Given the description of an element on the screen output the (x, y) to click on. 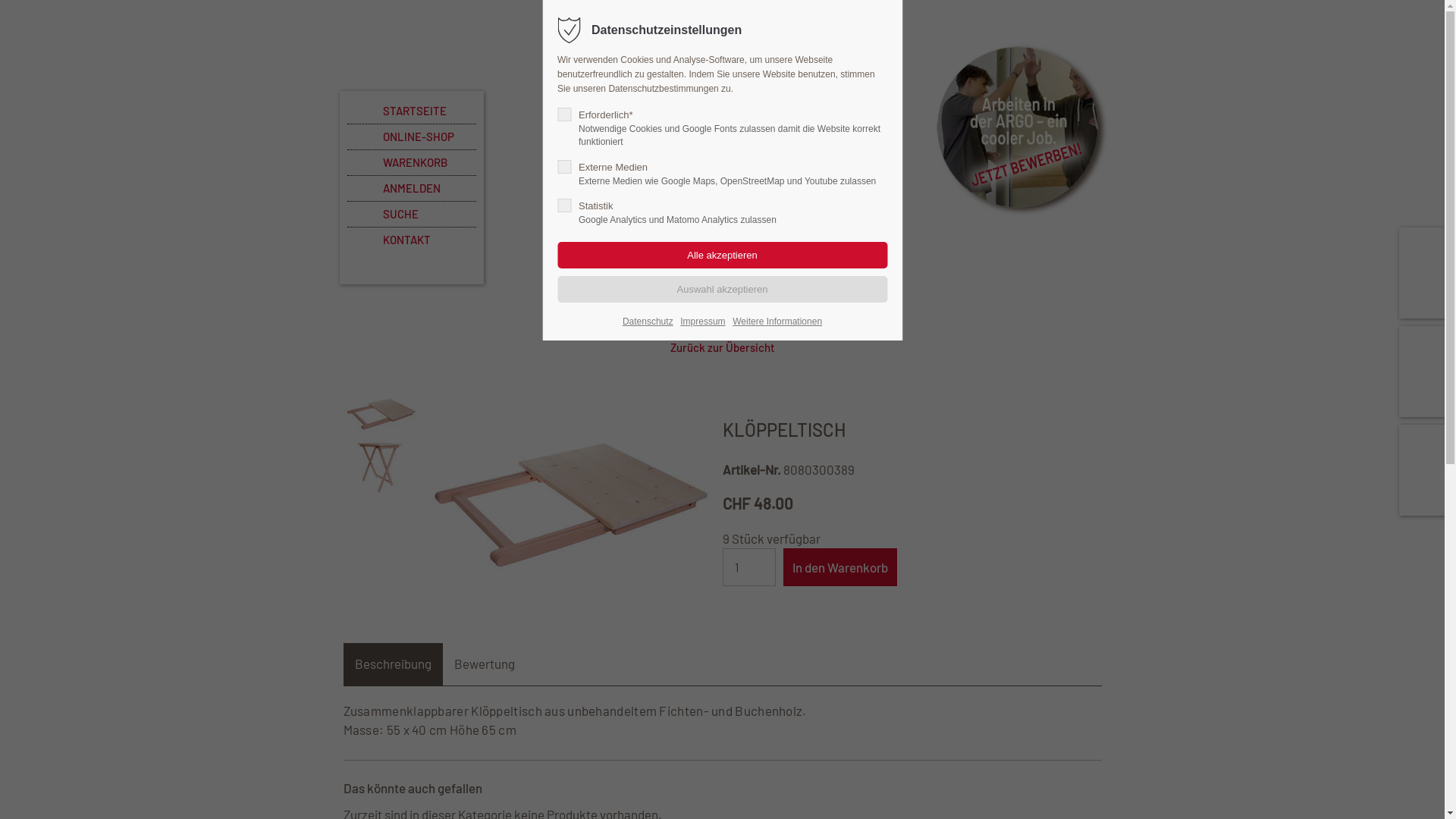
ANMELDEN Element type: text (411, 188)
ONLINE-SHOP Element type: text (411, 137)
KONTAKT Element type: text (411, 240)
WARENKORB Element type: text (411, 162)
Haushalt > Element type: text (753, 327)
Alle akzeptieren Element type: text (722, 254)
Impressum Element type: text (702, 321)
In den Warenkorb Element type: text (839, 567)
SUCHE Element type: text (411, 214)
STARTSEITE Element type: text (411, 111)
Shop > Element type: text (613, 327)
Auswahl akzeptieren Element type: text (722, 289)
Weitere Informationen Element type: text (777, 321)
Datenschutz Element type: text (647, 321)
